Given the description of an element on the screen output the (x, y) to click on. 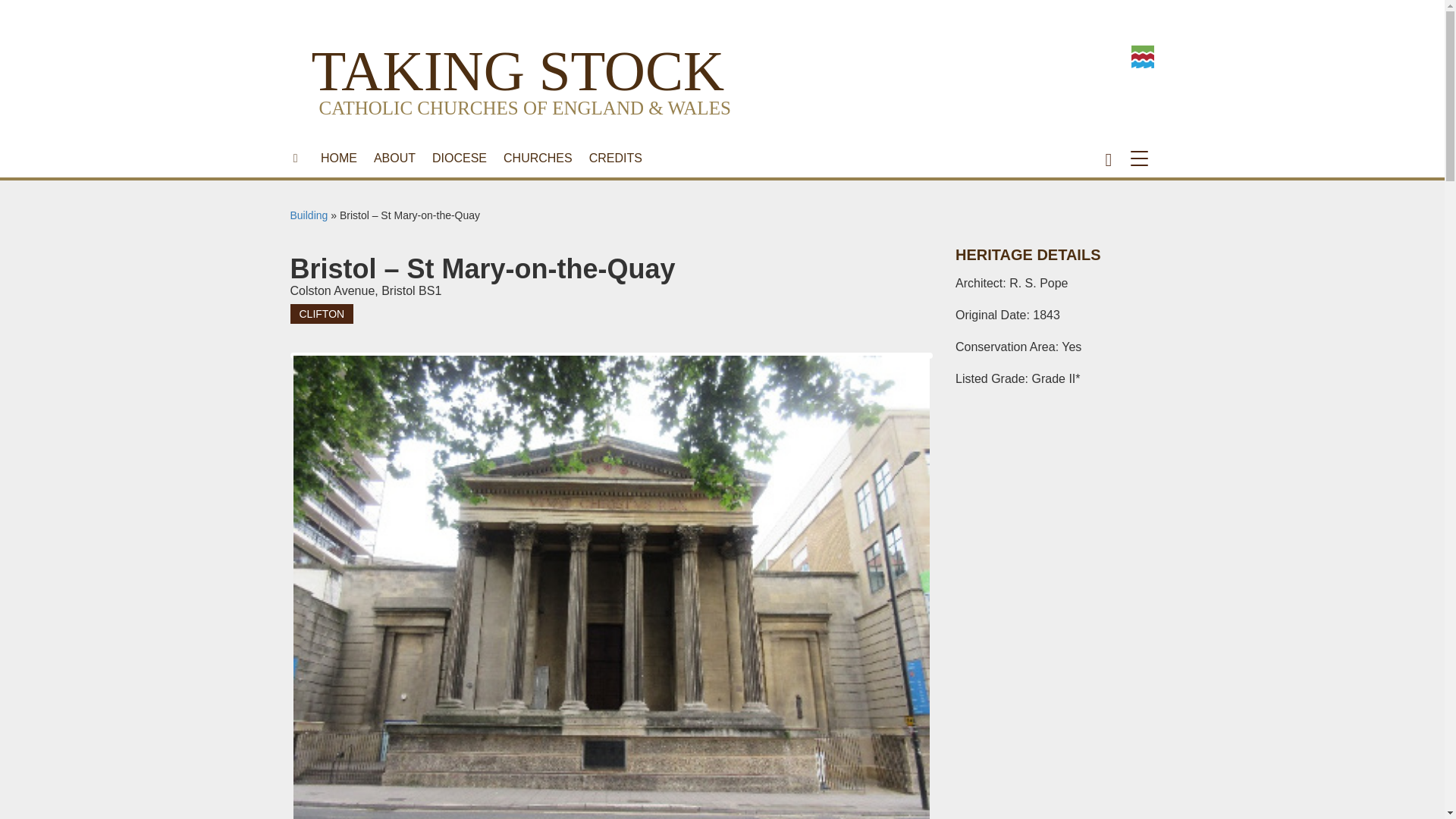
HOME (339, 158)
DIOCESE (459, 158)
Building (308, 215)
TOGGLE NAVIGATION (1142, 157)
CREDITS (615, 158)
ABOUT (394, 158)
CHURCHES (537, 158)
CLIFTON (321, 313)
